Given the description of an element on the screen output the (x, y) to click on. 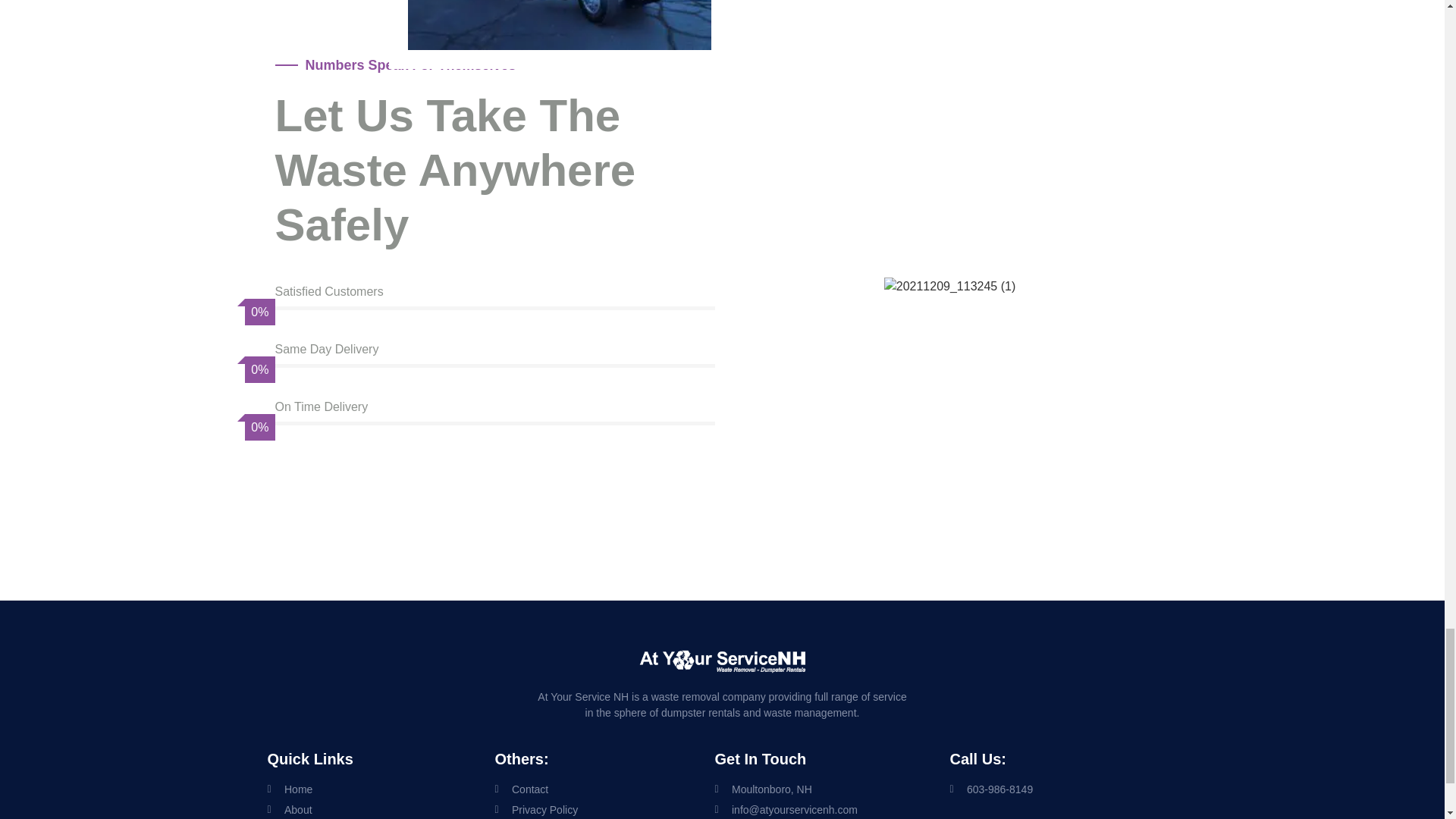
About (380, 810)
Privacy Policy (604, 810)
Home (380, 789)
603-986-8149 (1062, 789)
Contact (604, 789)
